Given the description of an element on the screen output the (x, y) to click on. 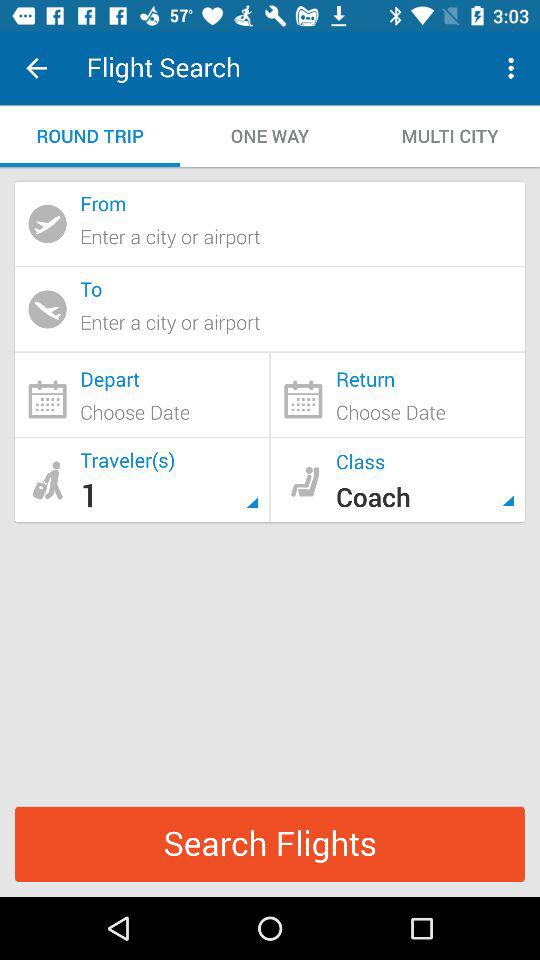
select item to the left of one way item (90, 136)
